Given the description of an element on the screen output the (x, y) to click on. 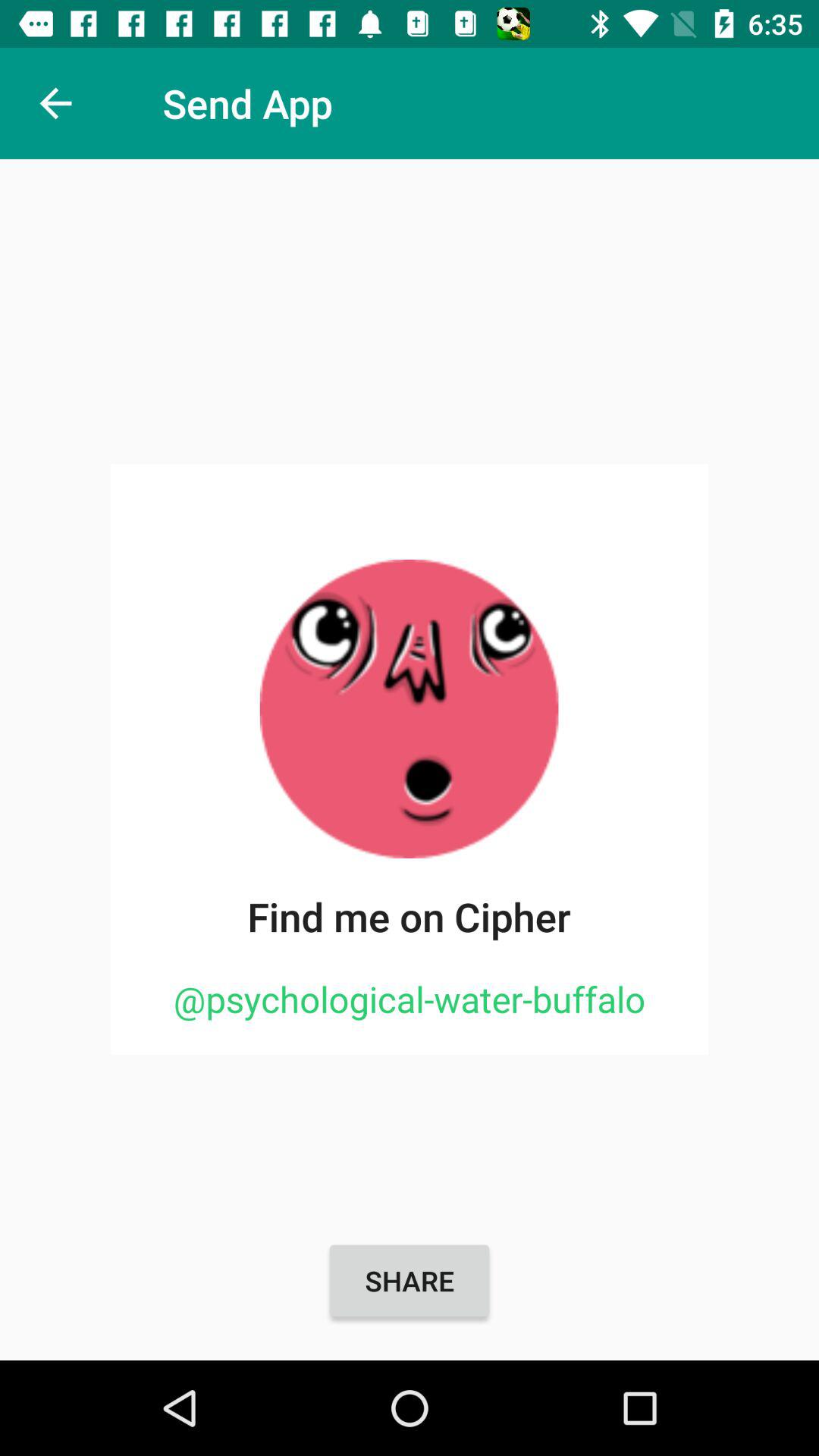
select the item below the @psychological-water-buffalo icon (409, 1280)
